Given the description of an element on the screen output the (x, y) to click on. 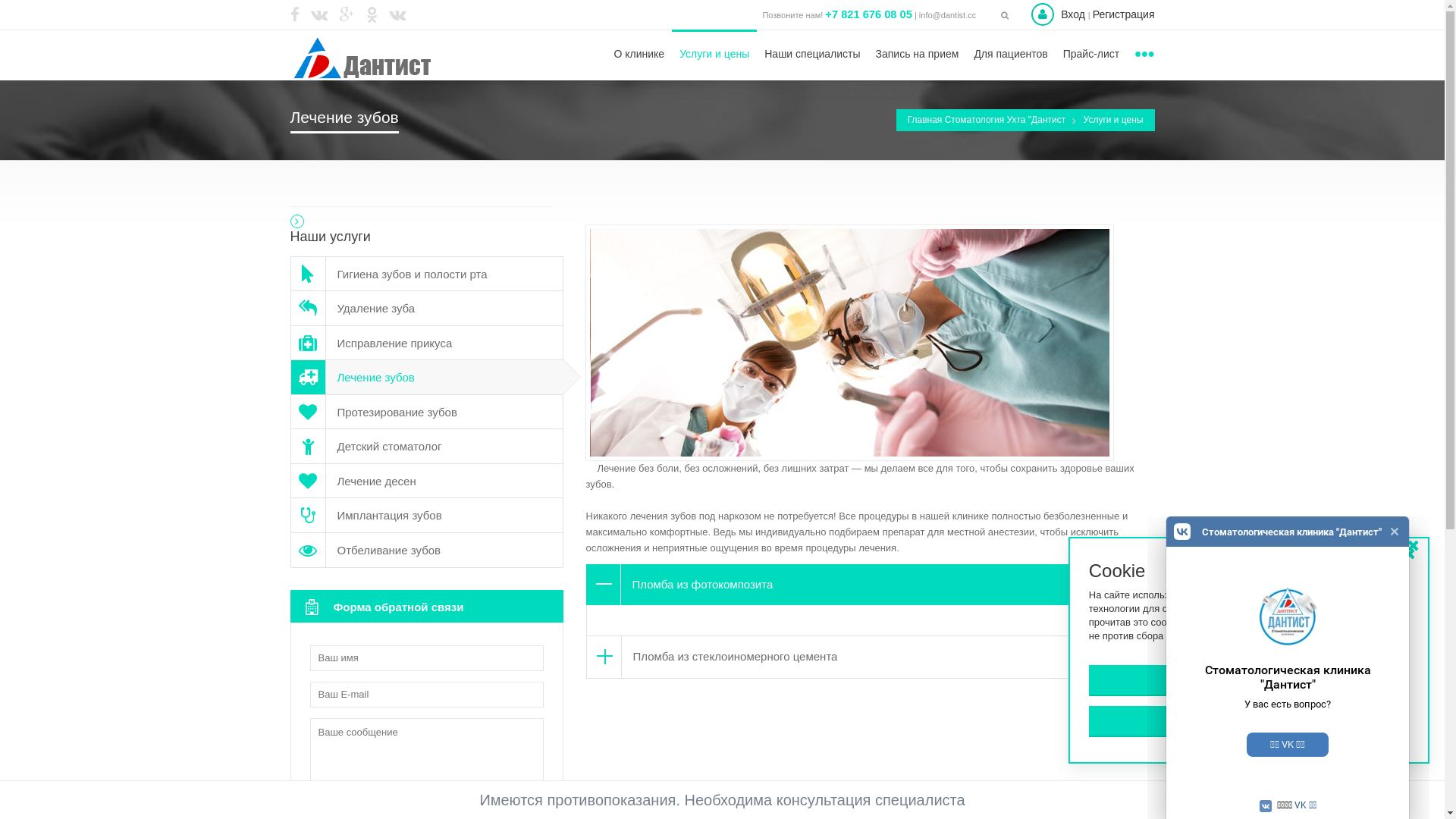
info@dantist.cc Element type: text (323, 678)
+7 821 676 08 05 Element type: text (868, 14)
